Given the description of an element on the screen output the (x, y) to click on. 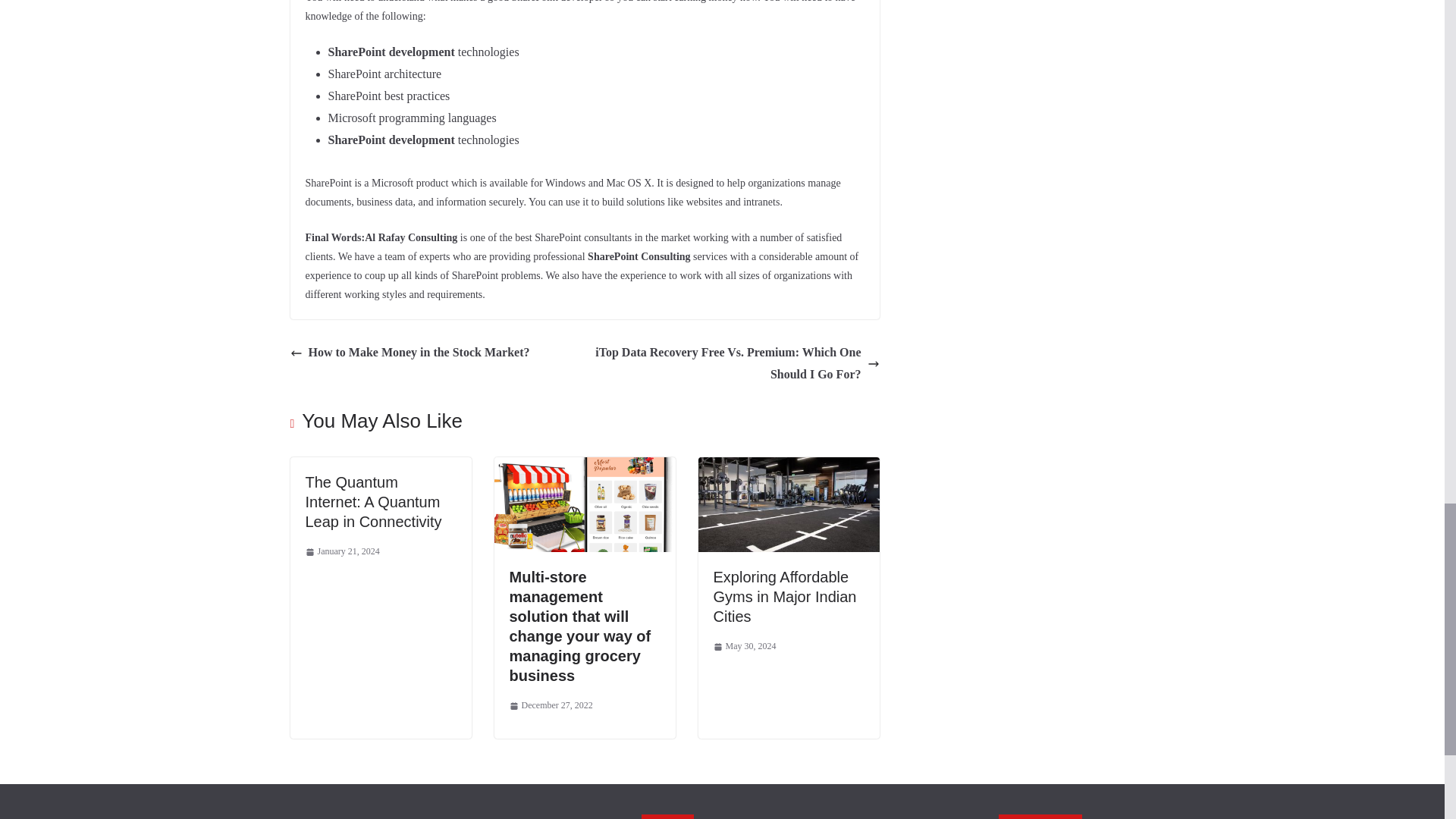
Exploring Affordable Gyms in Major Indian Cities (788, 467)
December 27, 2022 (550, 705)
6:02 pm (744, 646)
May 30, 2024 (744, 646)
The Quantum Internet: A Quantum Leap in Connectivity (372, 501)
6:00 am (341, 551)
